Given the description of an element on the screen output the (x, y) to click on. 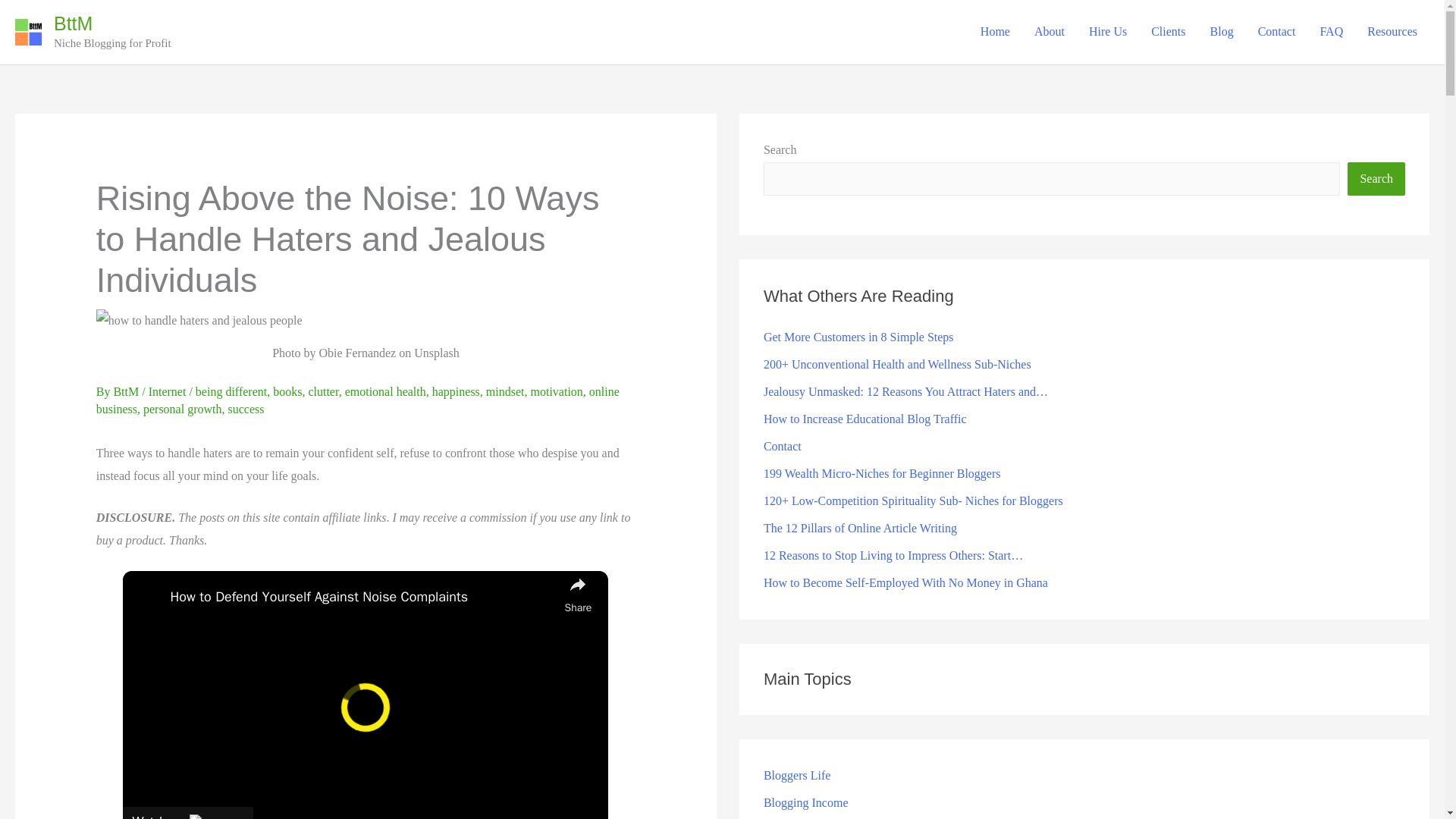
View all posts by BttM (125, 391)
About (1049, 31)
BttM (73, 23)
Hire Us (1107, 31)
Home (995, 31)
Blog (1222, 31)
Contact (1276, 31)
FAQ (1331, 31)
Resources (1392, 31)
Clients (1167, 31)
